Given the description of an element on the screen output the (x, y) to click on. 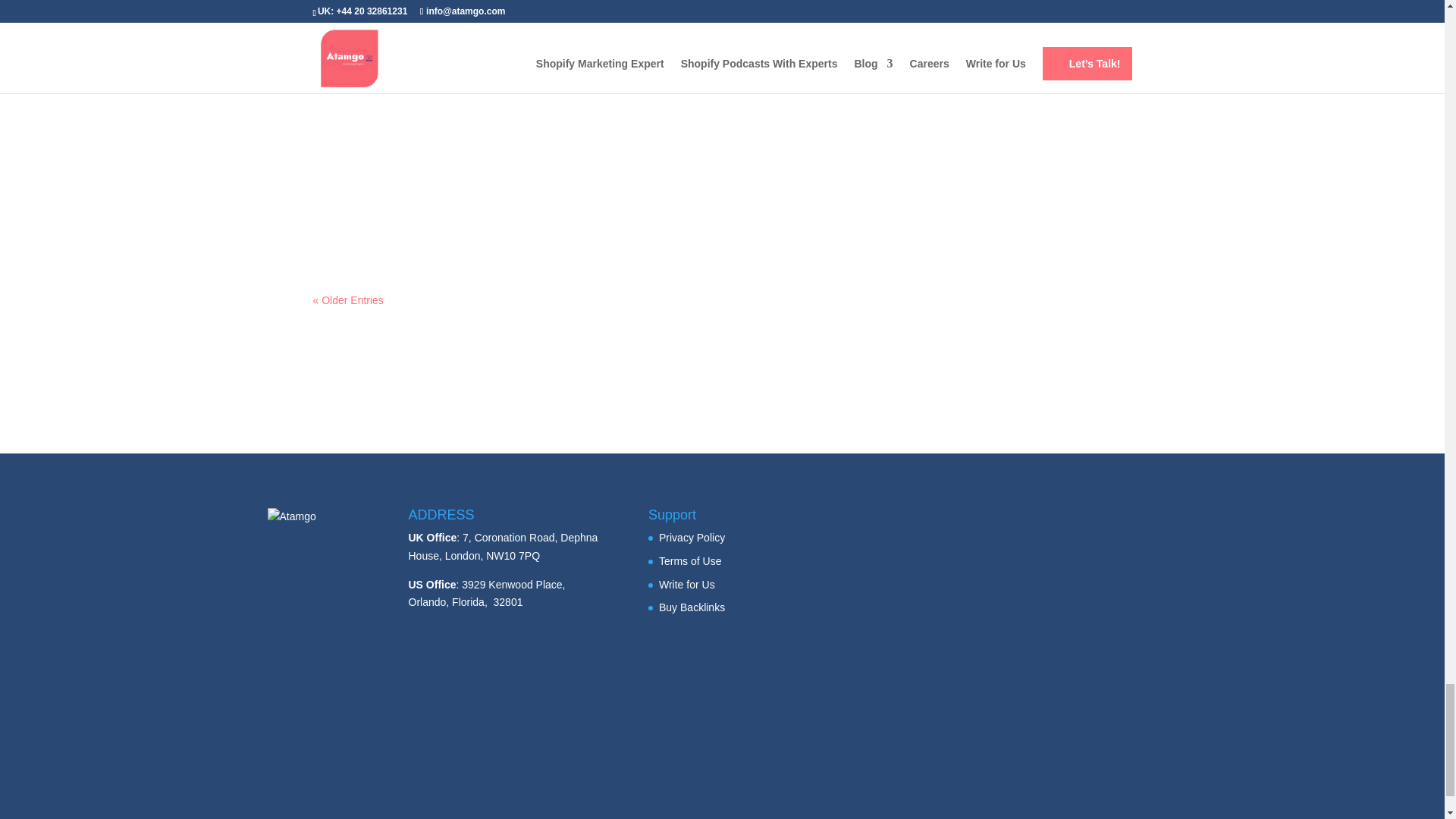
Privacy Policy (692, 537)
Terms of Use (689, 561)
Buy Backlinks (692, 607)
Write for Us (686, 584)
